Given the description of an element on the screen output the (x, y) to click on. 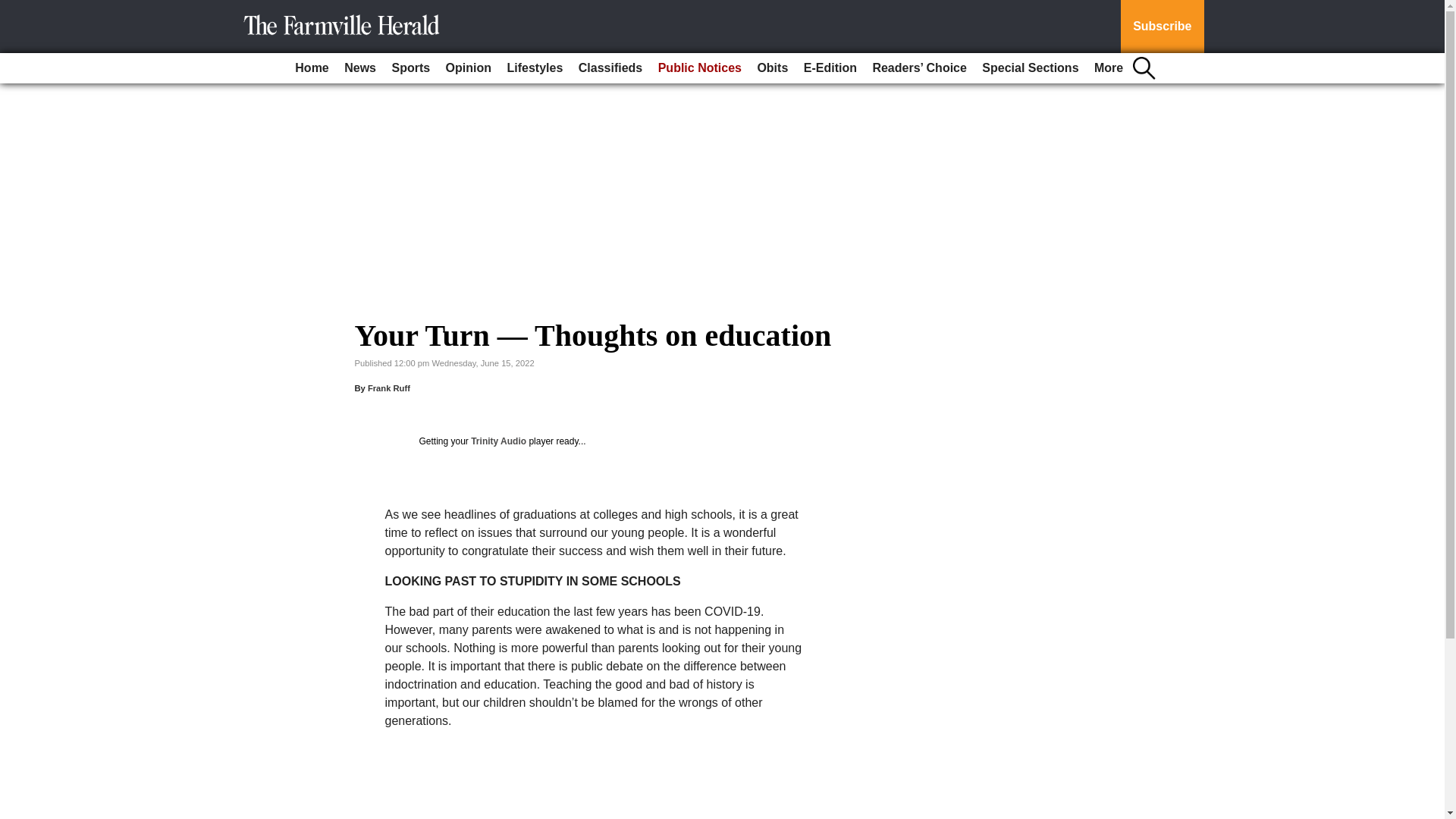
Special Sections (1029, 68)
Subscribe (1162, 26)
Sports (410, 68)
Public Notices (700, 68)
Frank Ruff (389, 388)
News (359, 68)
Classifieds (609, 68)
Trinity Audio (497, 440)
Home (311, 68)
Go (13, 9)
